Given the description of an element on the screen output the (x, y) to click on. 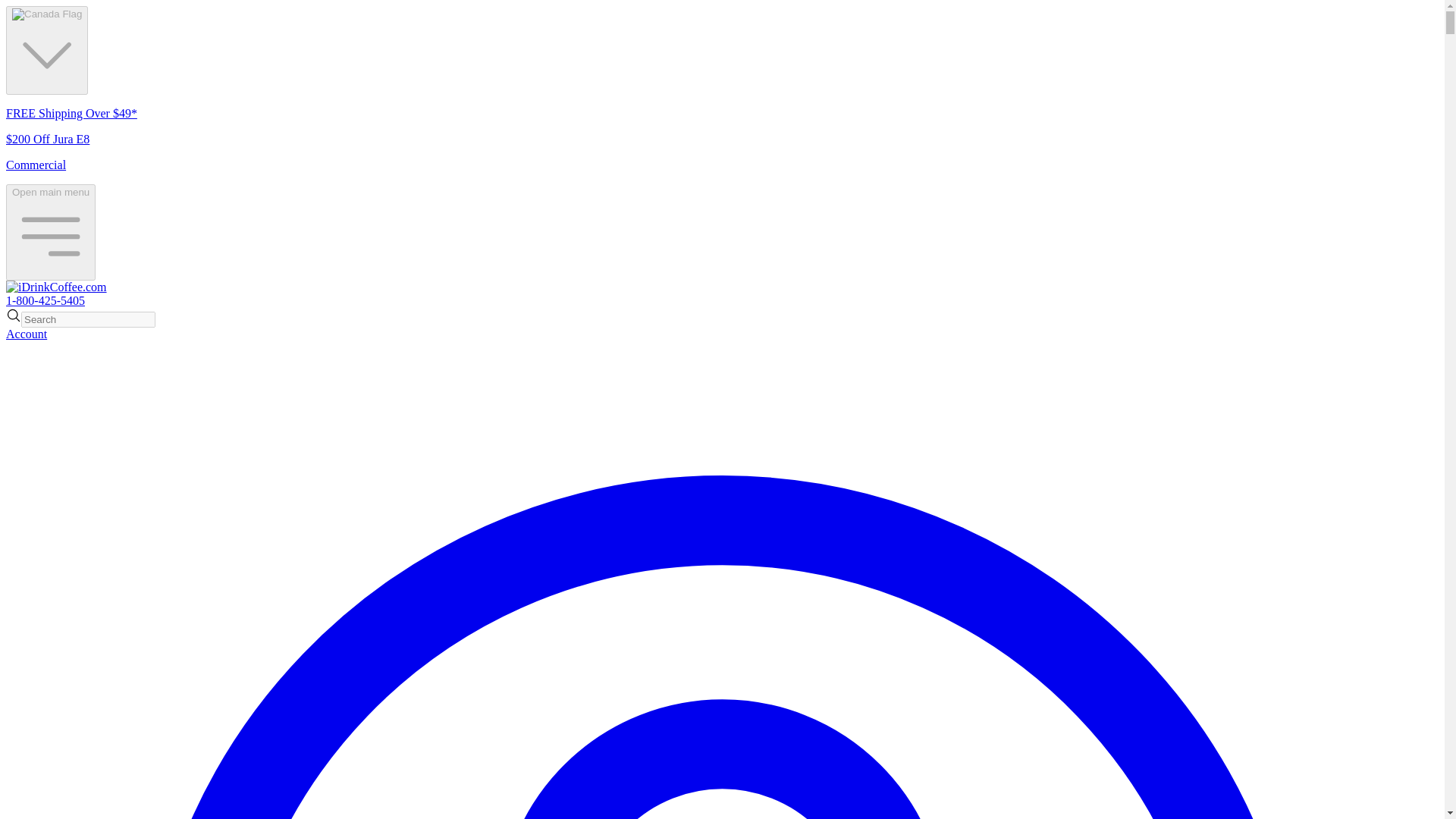
Open main menu (50, 232)
1-800-425-5405 (44, 300)
